Given the description of an element on the screen output the (x, y) to click on. 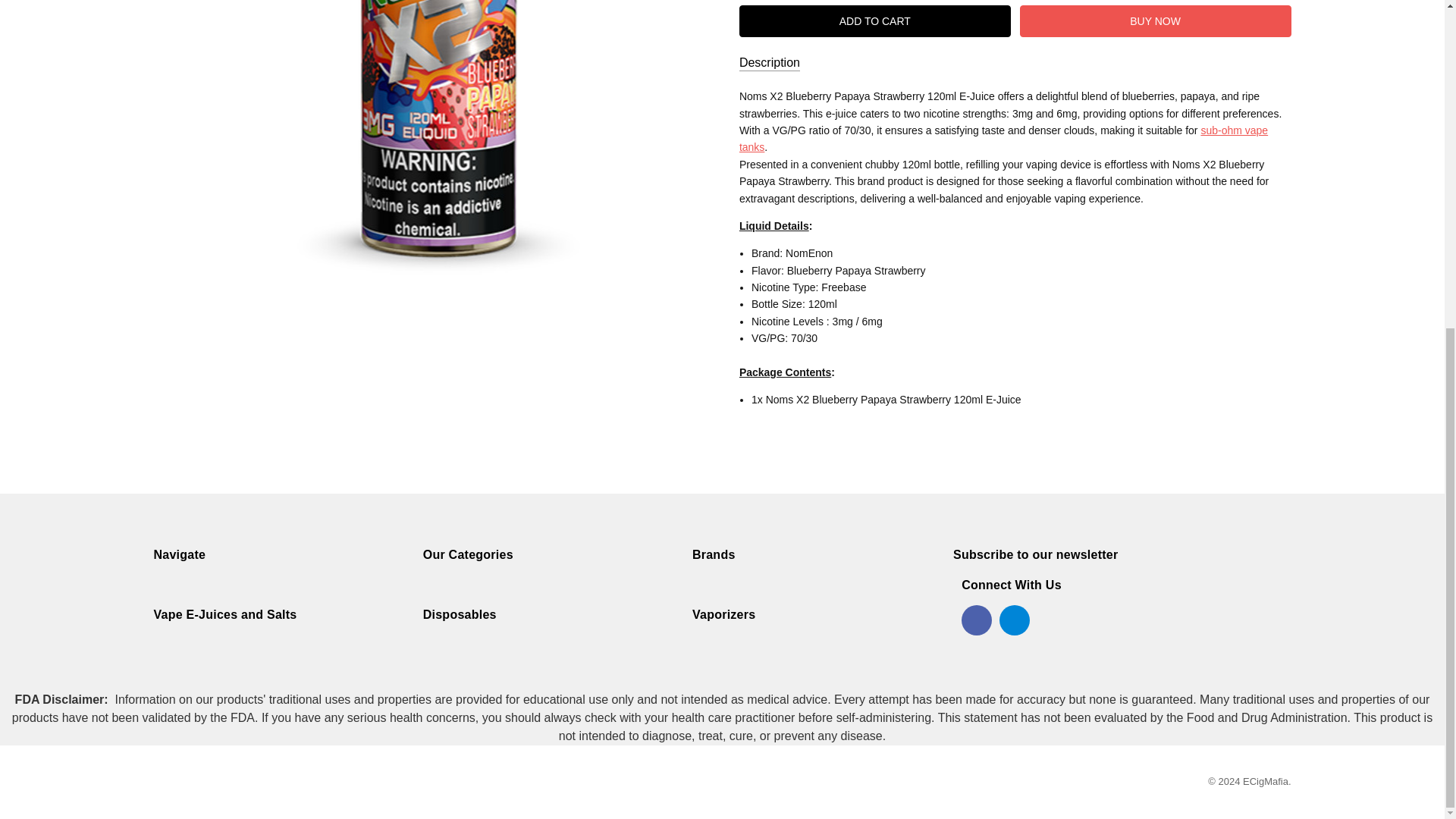
Add to Cart (874, 20)
Buy Now (1155, 20)
